Given the description of an element on the screen output the (x, y) to click on. 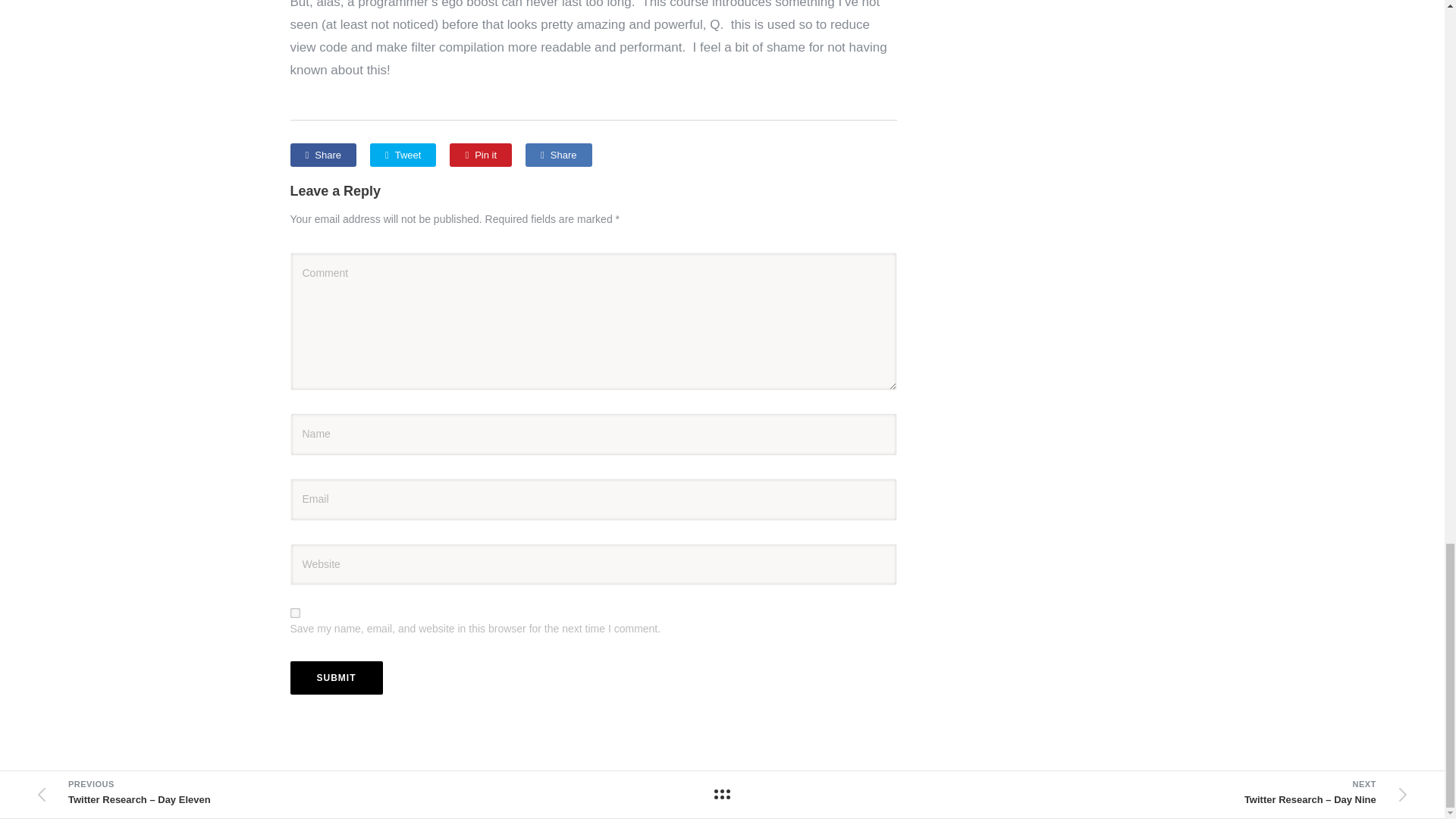
Tweet (402, 155)
Share (558, 155)
Submit (335, 677)
Pin it (480, 155)
Share (322, 155)
Submit (335, 677)
yes (294, 613)
